Given the description of an element on the screen output the (x, y) to click on. 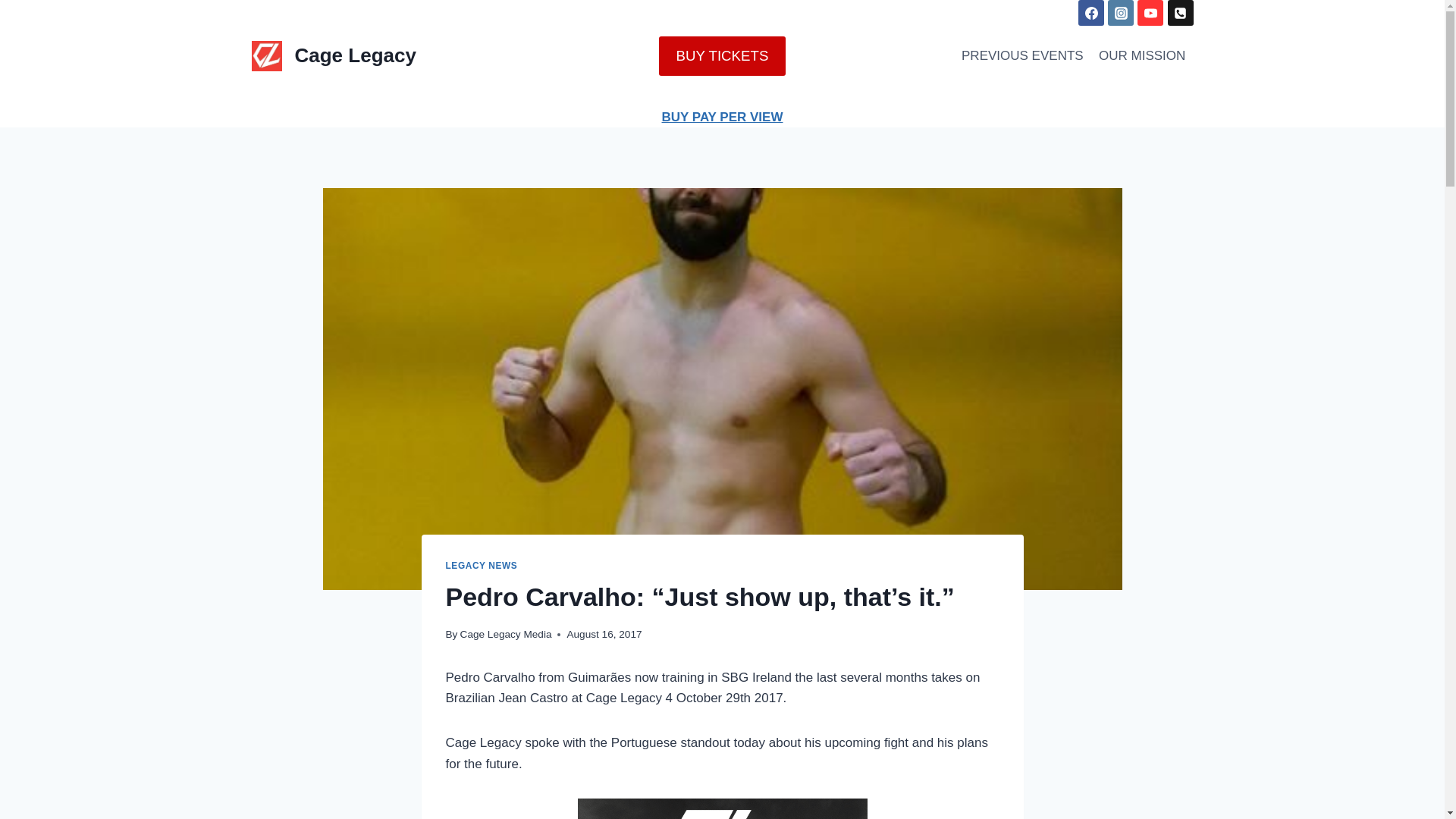
Cage Legacy Media (505, 633)
Cage Legacy (333, 55)
PREVIOUS EVENTS (1021, 56)
BUY TICKETS (722, 56)
OUR MISSION (1141, 56)
BUY PAY PER VIEW (722, 116)
LEGACY NEWS (481, 565)
